Given the description of an element on the screen output the (x, y) to click on. 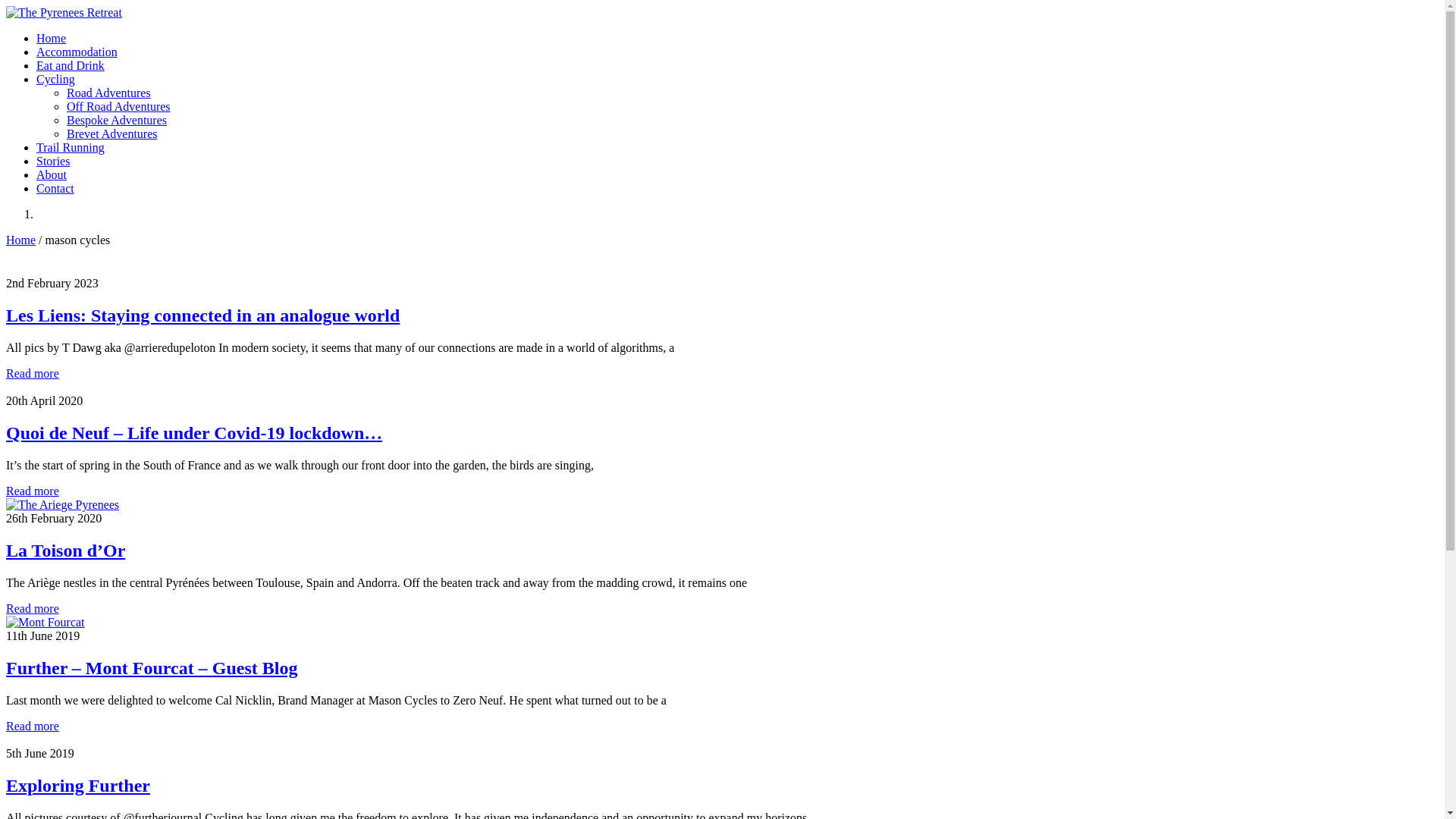
Eat and Drink Element type: text (70, 65)
Home Element type: text (50, 37)
Contact Element type: text (55, 188)
Brevet Adventures Element type: text (111, 133)
Home Element type: text (20, 239)
Exploring Further Element type: text (78, 785)
Off Road Adventures Element type: text (118, 106)
Read more Element type: text (32, 490)
Accommodation Element type: text (76, 51)
Stories Element type: text (52, 160)
About Element type: text (51, 174)
Bespoke Adventures Element type: text (116, 119)
Read more Element type: text (32, 373)
Read more Element type: text (32, 725)
Read more Element type: text (32, 608)
Les Liens: Staying connected in an analogue world Element type: text (202, 315)
Road Adventures Element type: text (108, 92)
Cycling Element type: text (55, 78)
Trail Running Element type: text (70, 147)
